Given the description of an element on the screen output the (x, y) to click on. 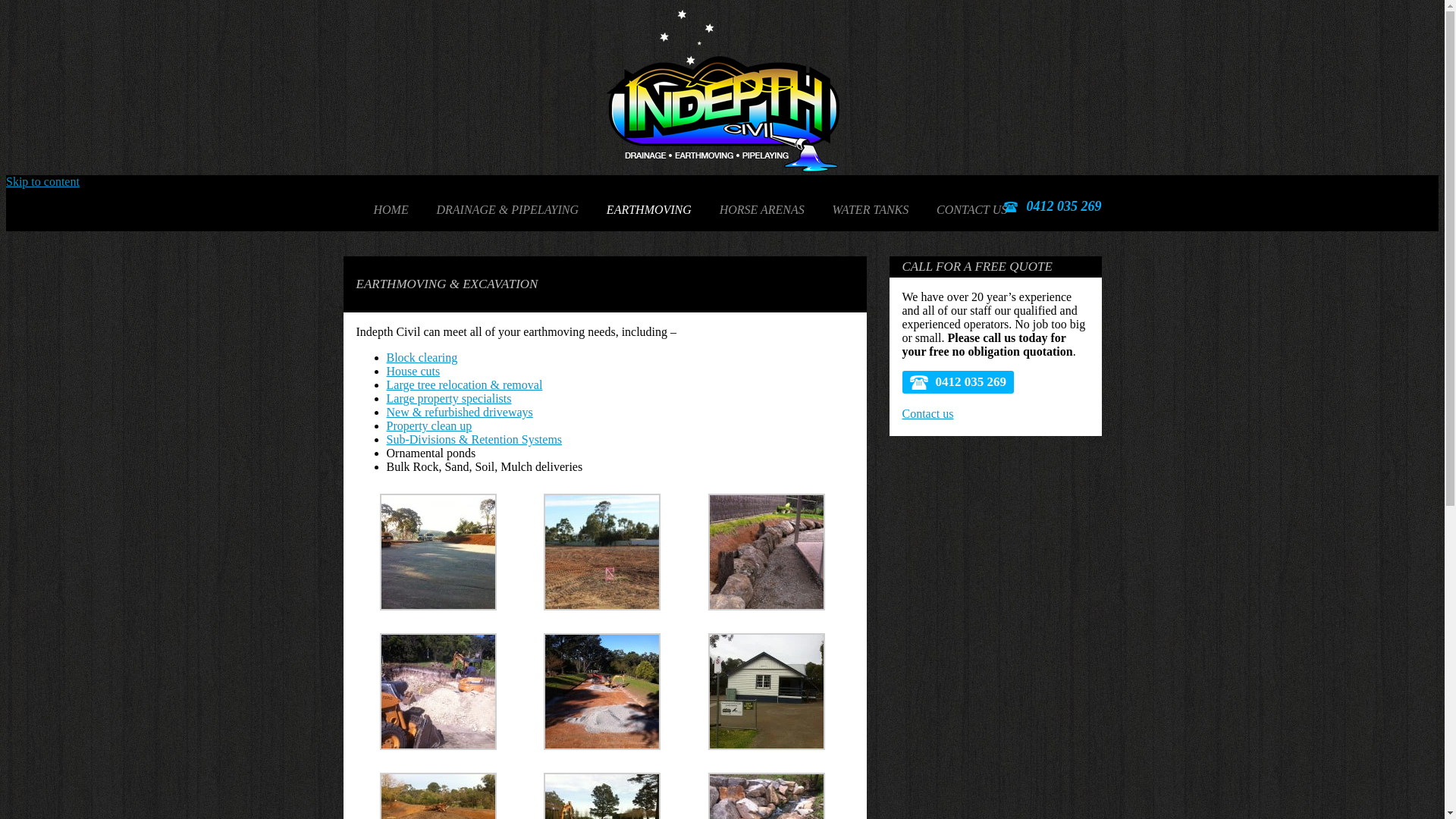
Contact us Element type: text (927, 413)
Large property specialists Element type: text (448, 398)
New & refurbished driveways Element type: text (459, 411)
Skip to content Element type: text (42, 181)
EARTHMOVING & EXCAVATION Element type: text (698, 246)
Property clean up Element type: text (429, 425)
Sub-Divisions & Retention Systems Element type: text (474, 439)
EARTHMOVING Element type: text (648, 209)
0412 035 269 Element type: text (958, 381)
CONTACT US Element type: text (971, 209)
WATER TANKS Element type: text (870, 209)
House cuts Element type: text (413, 370)
DRAINAGE & PIPELAYING Element type: text (507, 209)
Block clearing Element type: text (422, 357)
Indepth Civil Element type: hover (721, 167)
HOME Element type: text (390, 209)
Large tree relocation & removal Element type: text (464, 384)
HORSE ARENAS Element type: text (761, 209)
